Given the description of an element on the screen output the (x, y) to click on. 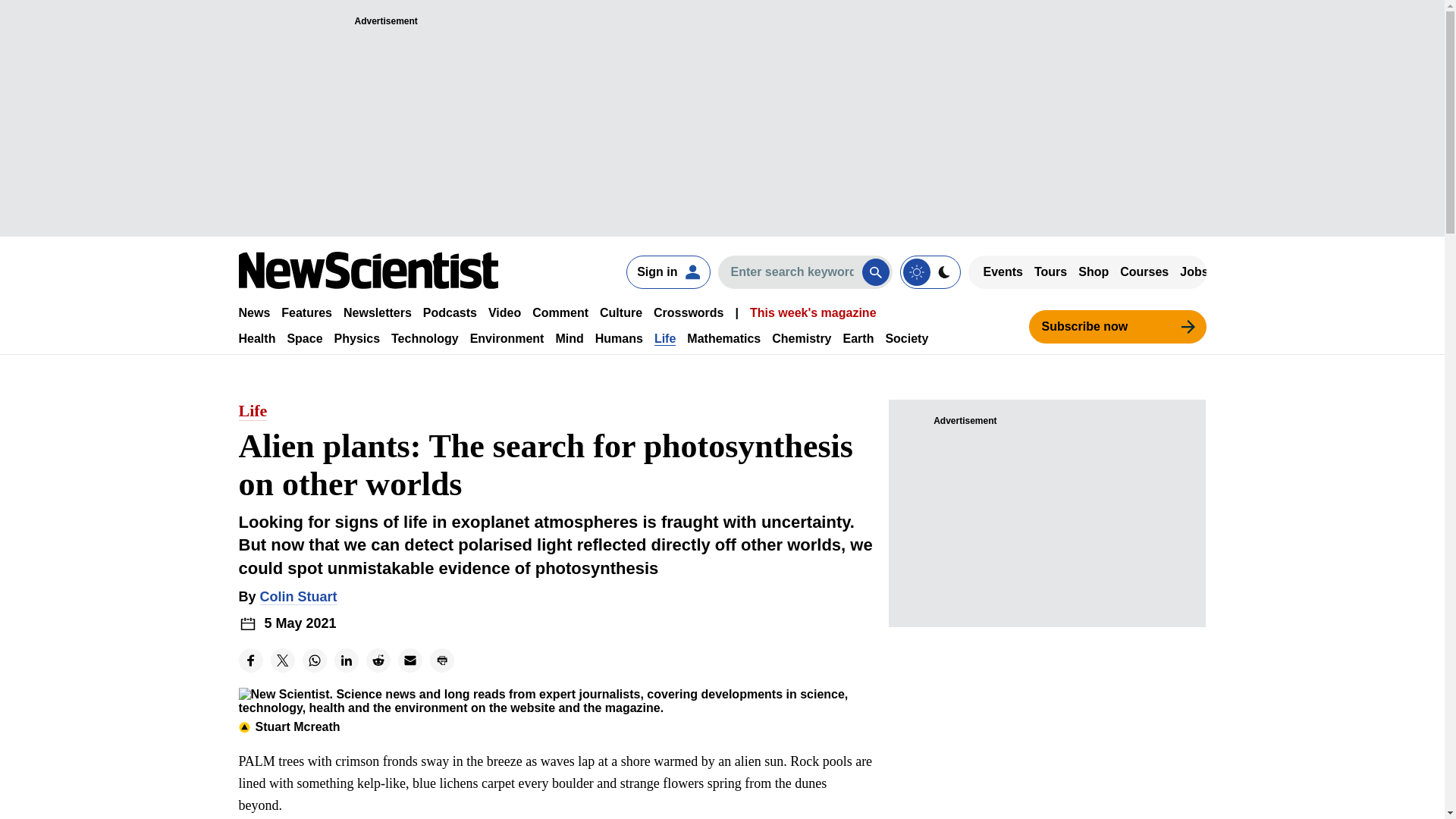
Health (256, 338)
Chemistry (801, 338)
Calendar icon (247, 623)
News (253, 313)
Mathematics (723, 338)
Jobs (1193, 272)
Sign In page link (668, 272)
Earth (859, 338)
Culture (620, 313)
Video (504, 313)
